Given the description of an element on the screen output the (x, y) to click on. 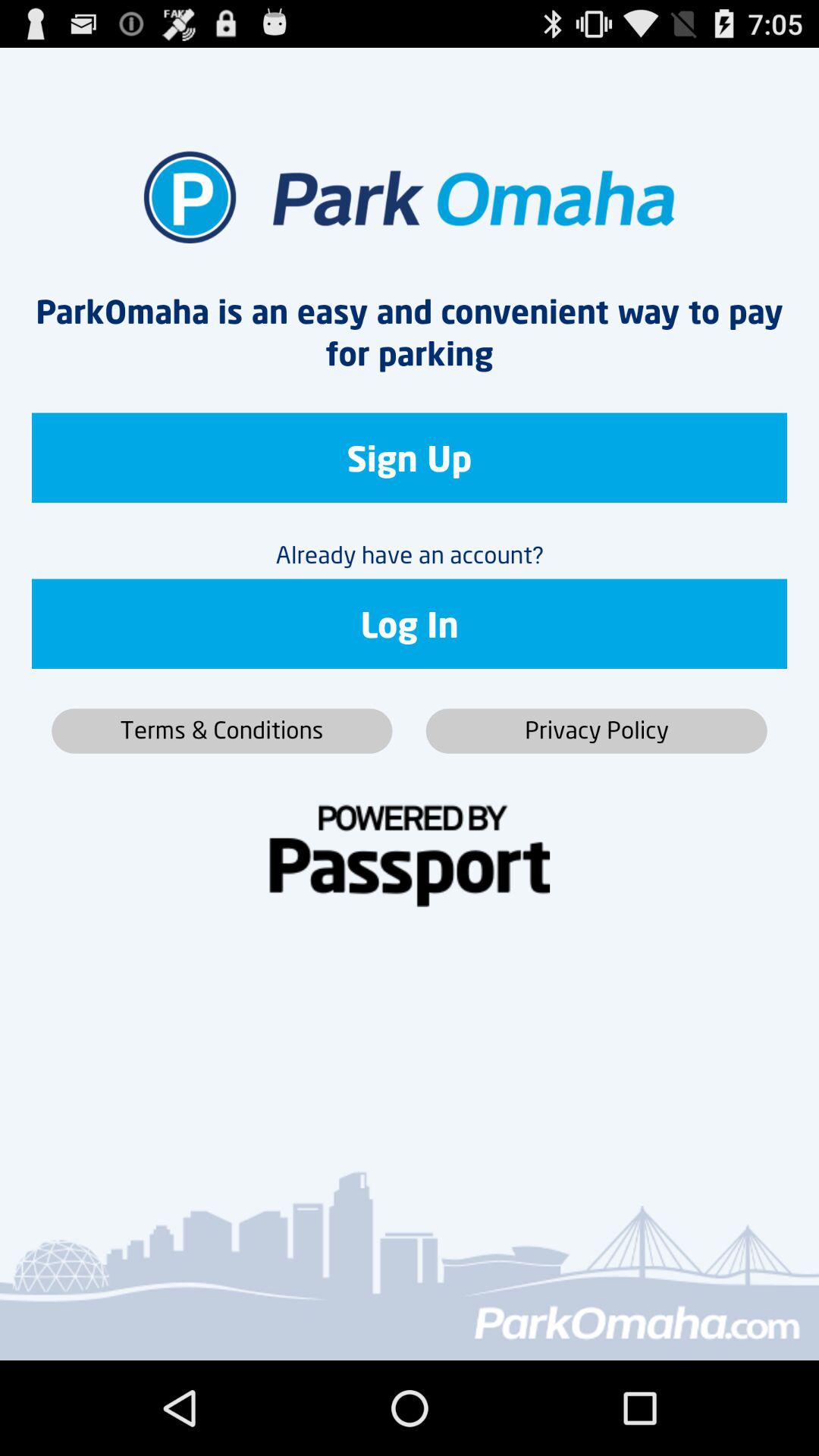
open the icon below the parkomaha is an icon (409, 457)
